Given the description of an element on the screen output the (x, y) to click on. 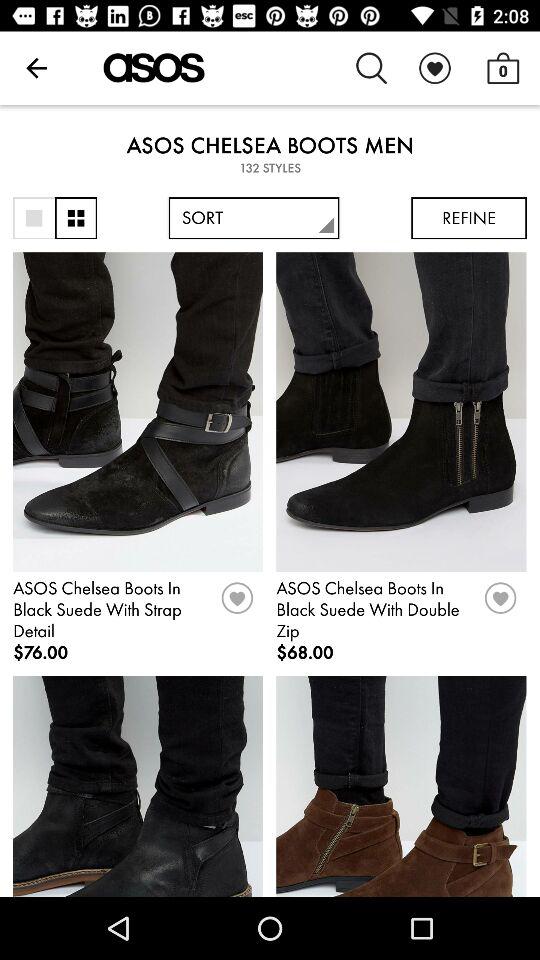
open the sort icon (253, 218)
